Given the description of an element on the screen output the (x, y) to click on. 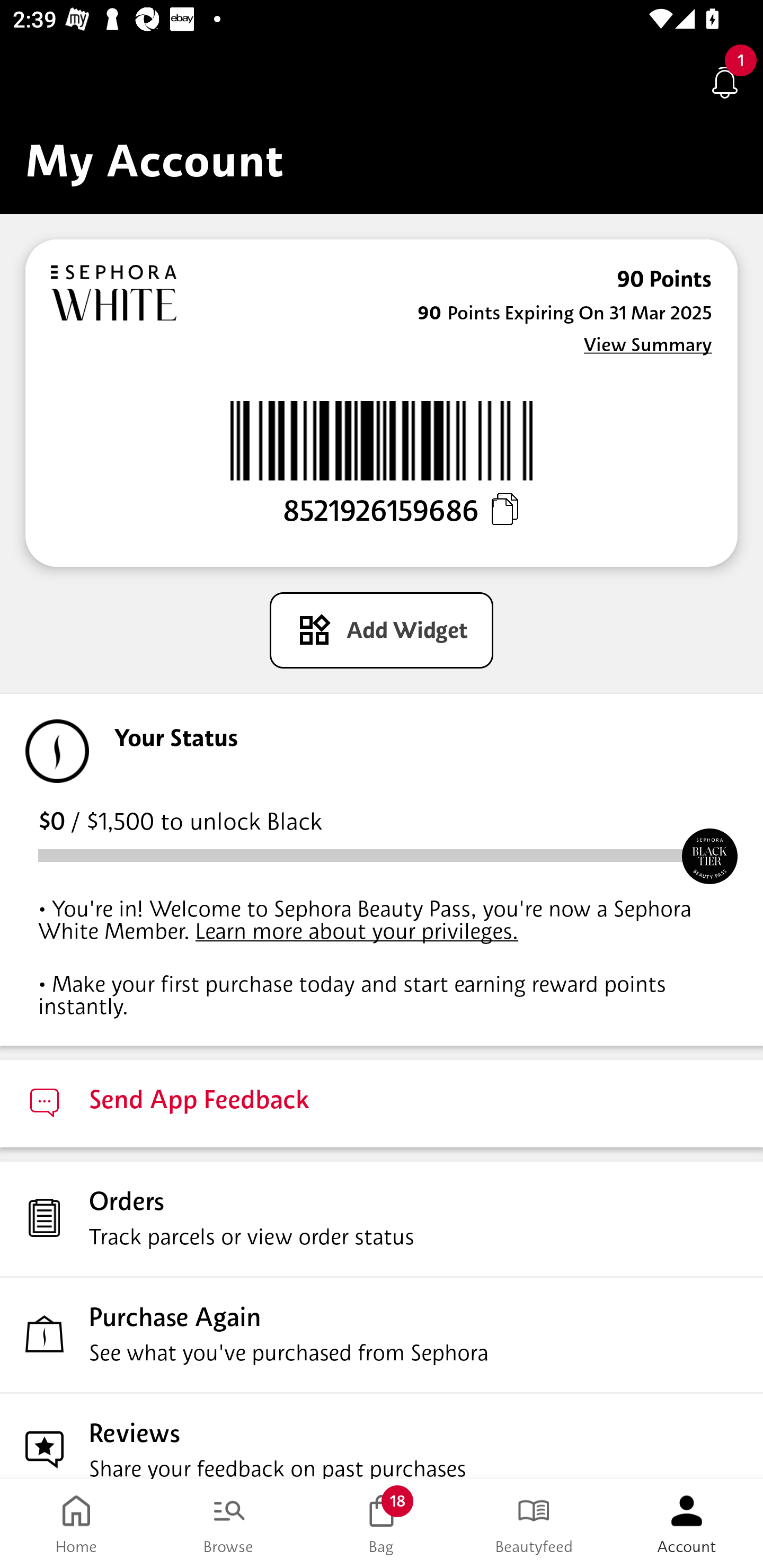
Notifications (724, 81)
View Summary (647, 343)
Add Widget (381, 629)
Send App Feedback (381, 1102)
Orders Track parcels or view order status (381, 1218)
Reviews Share your feedback on past purchases (381, 1435)
Home (76, 1523)
Browse (228, 1523)
Bag 18 Bag (381, 1523)
Beautyfeed (533, 1523)
